Given the description of an element on the screen output the (x, y) to click on. 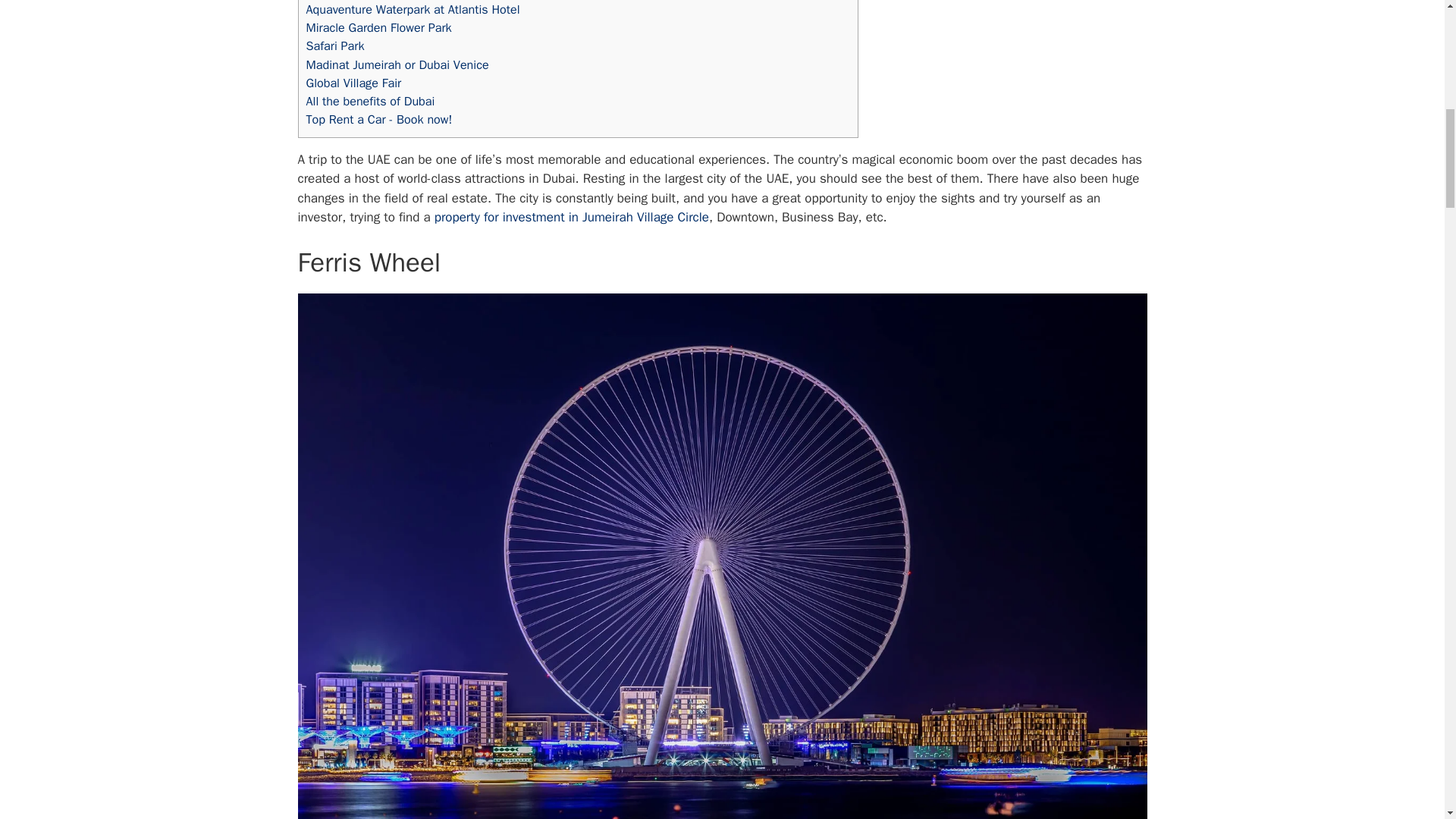
Top Rent a Car - Book now! (378, 119)
property for investment in Jumeirah Village Circle (571, 217)
Aquaventure Waterpark at Atlantis Hotel (412, 9)
Miracle Garden Flower Park (378, 27)
Safari Park (335, 45)
Global Village Fair (353, 82)
Madinat Jumeirah or Dubai Venice (397, 64)
All the benefits of Dubai (370, 100)
